Given the description of an element on the screen output the (x, y) to click on. 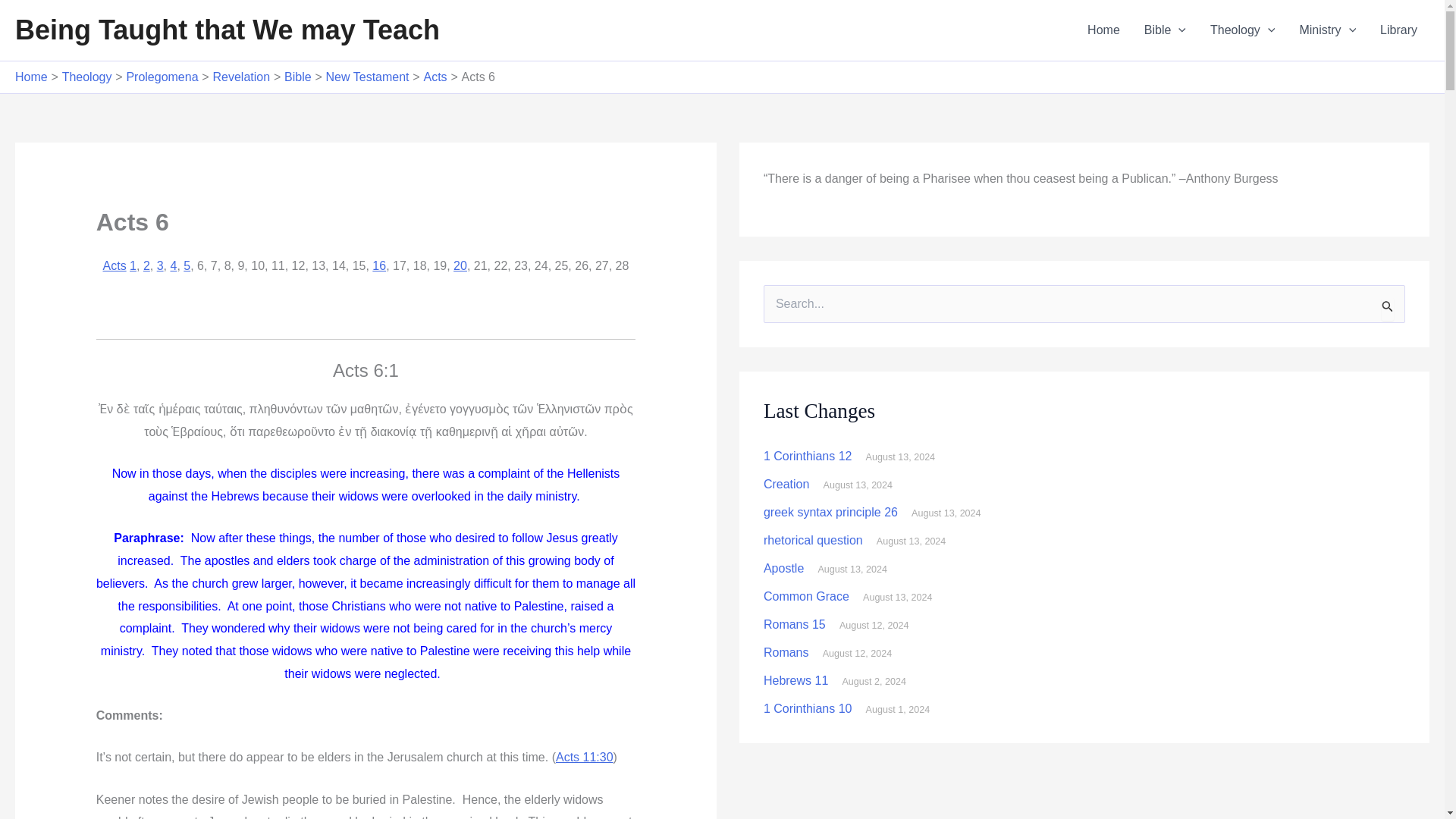
Being Taught that We may Teach (226, 29)
Theology (1242, 30)
Home (1103, 30)
Prolegomena (161, 76)
Bible (1165, 30)
Home (31, 76)
Revelation (240, 76)
Theology (87, 76)
Library (1398, 30)
Ministry (1327, 30)
